Given the description of an element on the screen output the (x, y) to click on. 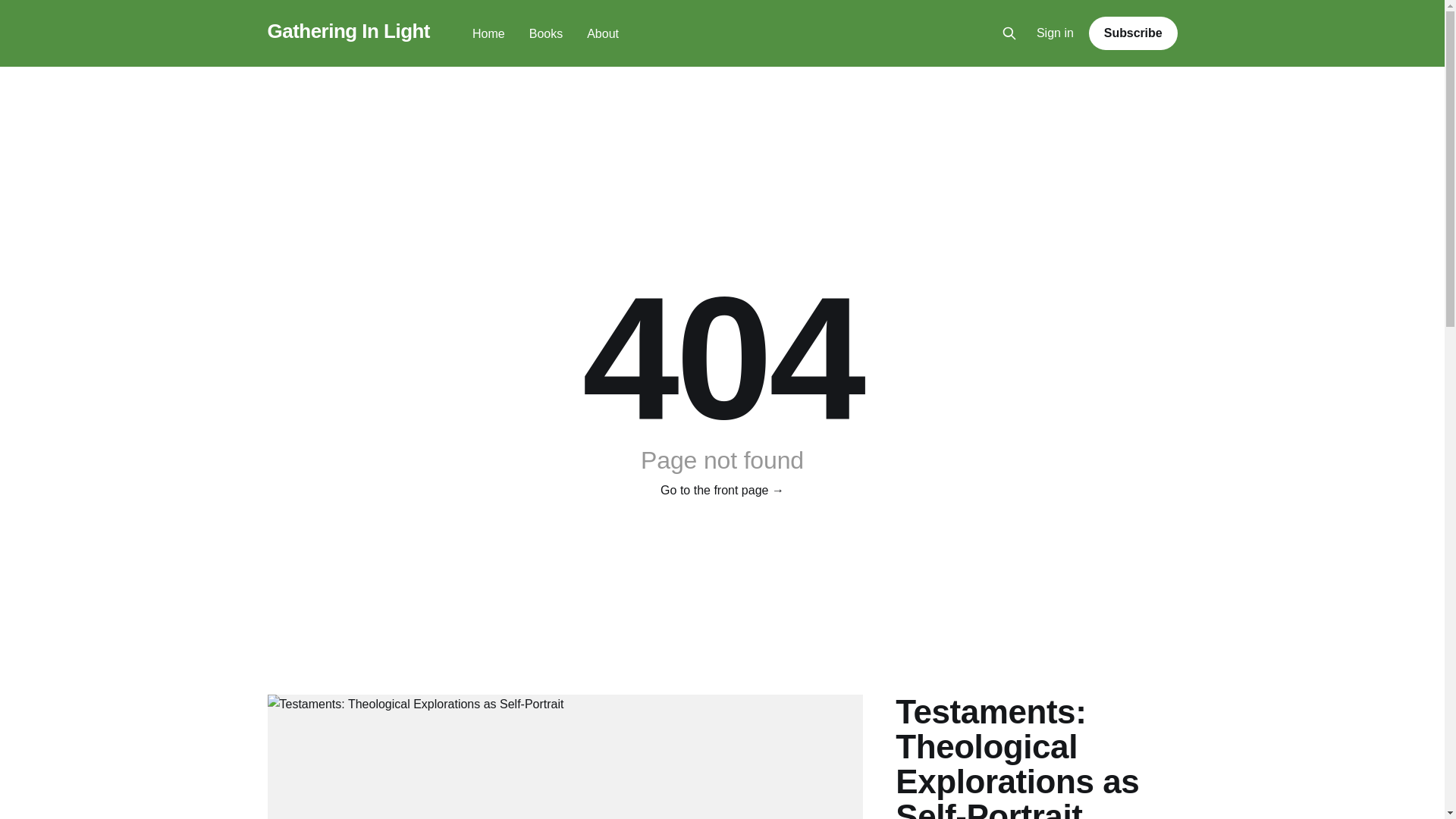
Subscribe (1133, 32)
Books (545, 33)
Sign in (1055, 33)
Home (488, 33)
Gathering In Light (347, 31)
About (602, 33)
